Given the description of an element on the screen output the (x, y) to click on. 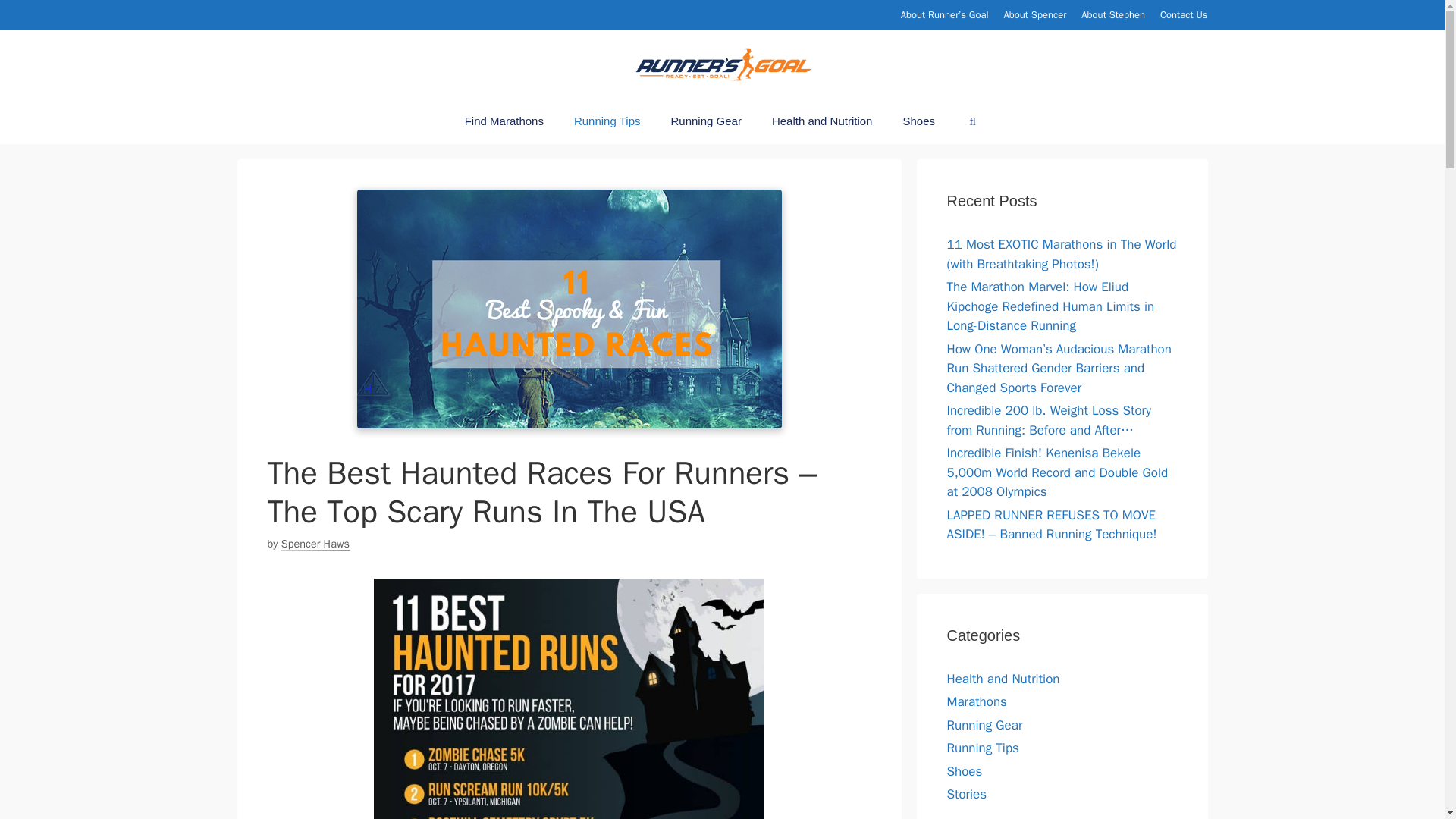
Running Gear (705, 121)
Running Tips (607, 121)
Spencer Haws (315, 543)
Health and Nutrition (822, 121)
Shoes (918, 121)
About Stephen (1112, 14)
About Spencer (1035, 14)
Find Marathons (504, 121)
View all posts by Spencer Haws (315, 543)
Contact Us (1184, 14)
